Given the description of an element on the screen output the (x, y) to click on. 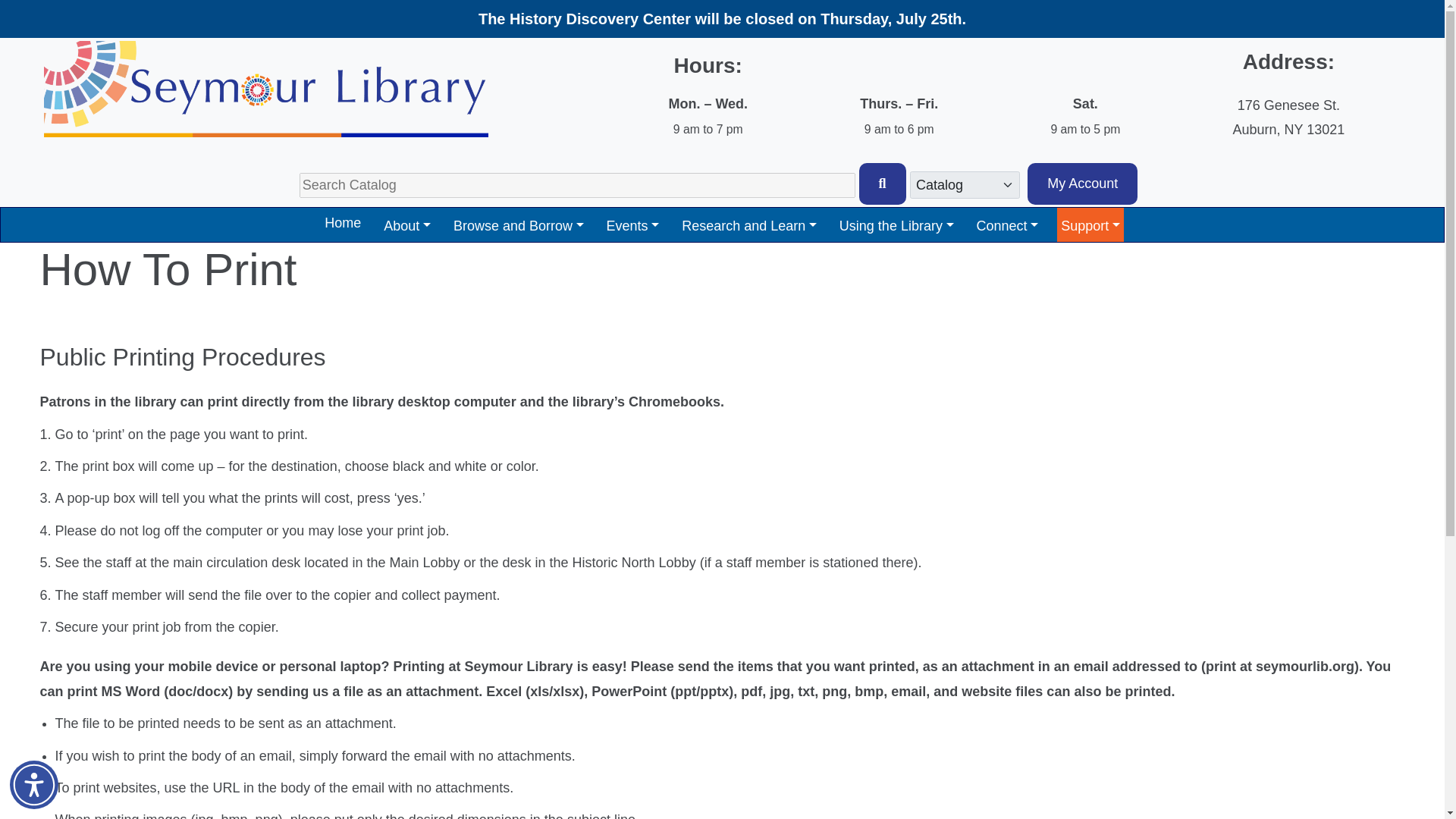
Using the Library (896, 224)
Connect (1007, 224)
My Account (1082, 183)
Home (342, 223)
About (406, 224)
Accessibility Menu (34, 784)
Browse and Borrow (518, 224)
Events (632, 224)
Research and Learn (749, 224)
